Given the description of an element on the screen output the (x, y) to click on. 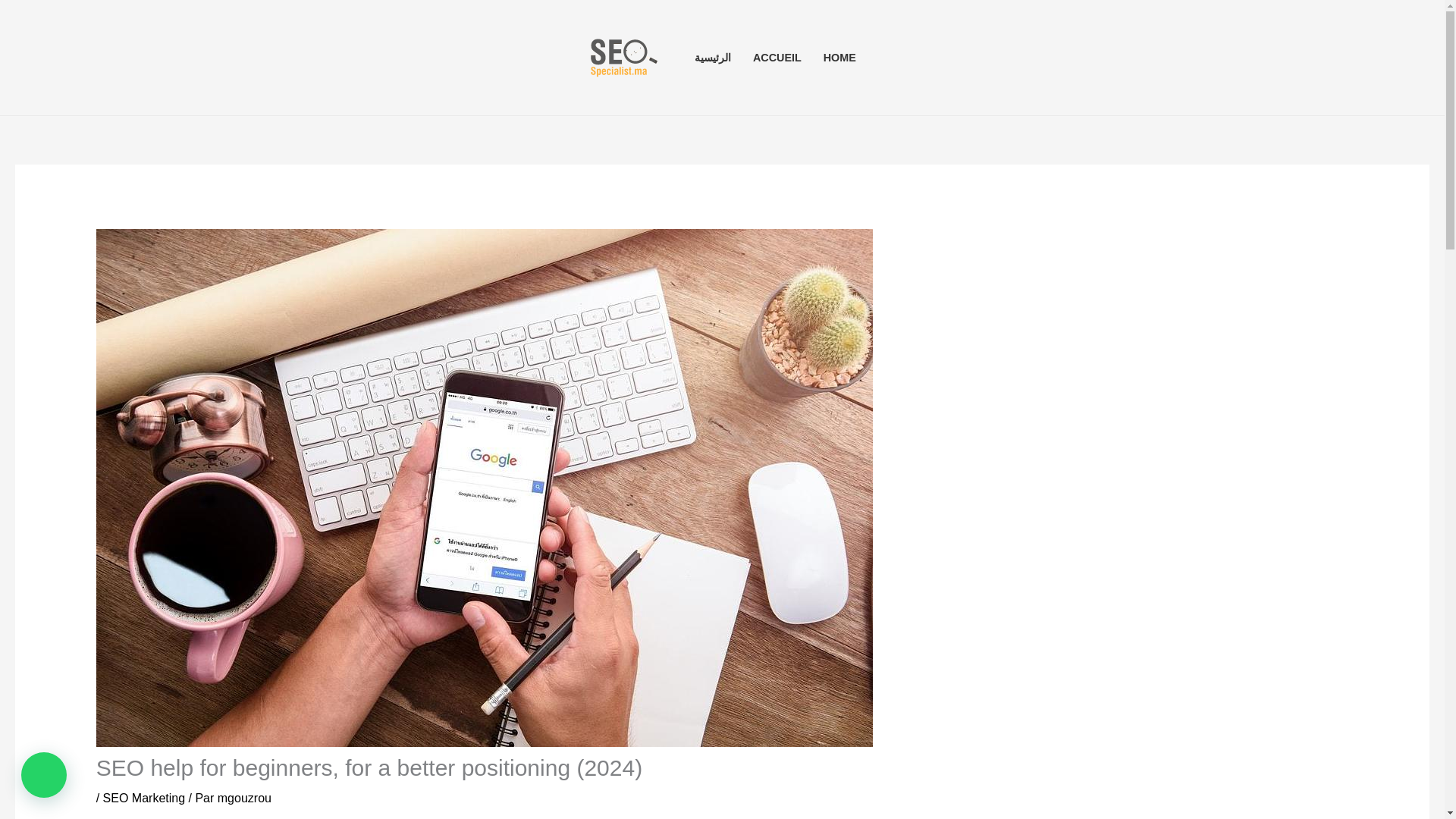
Voir toutes les publications de mgouzrou (243, 797)
SEO Marketing (143, 797)
mgouzrou (243, 797)
HOME (839, 57)
ACCUEIL (777, 57)
